Given the description of an element on the screen output the (x, y) to click on. 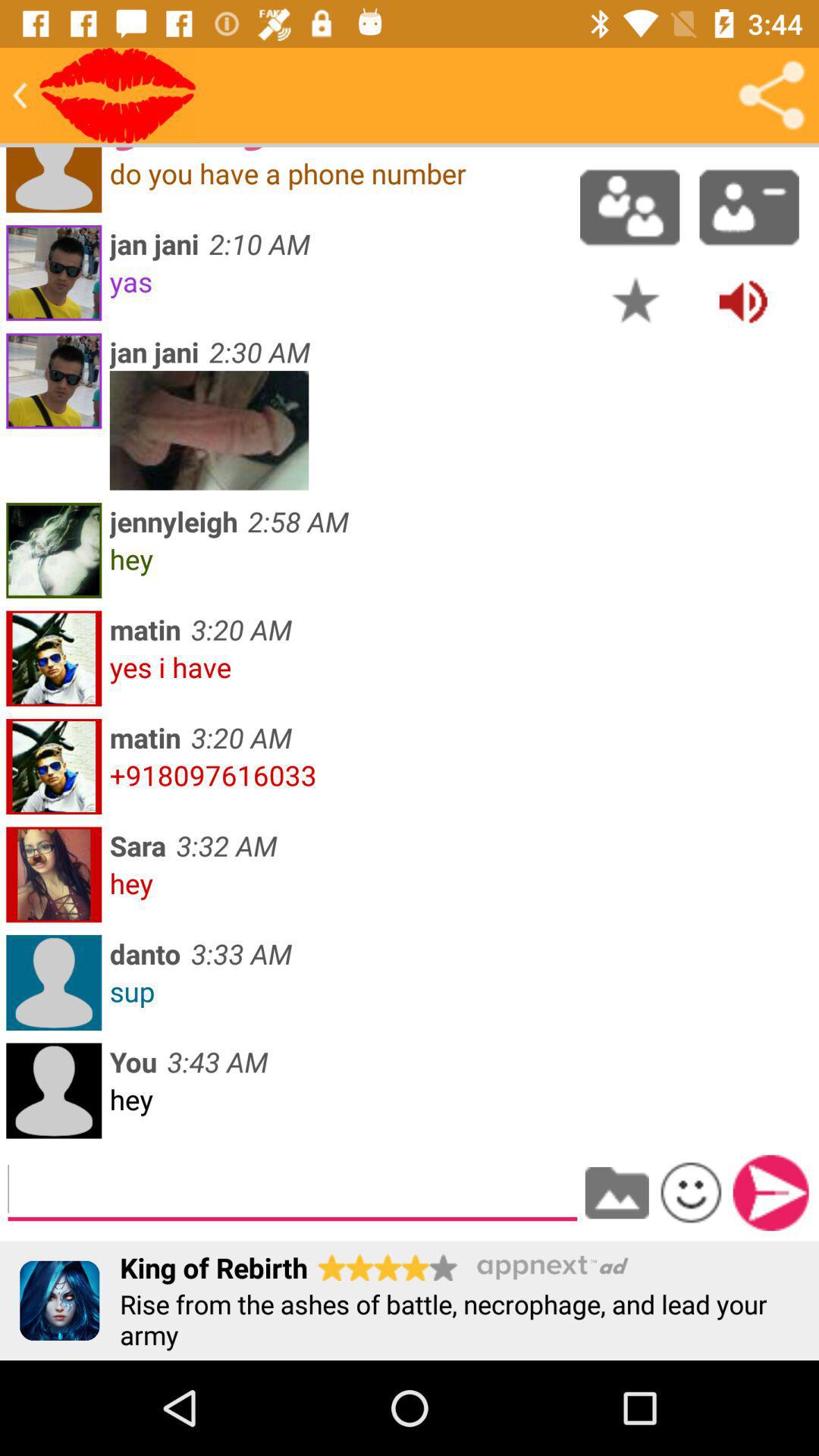
group dialog (629, 207)
